Given the description of an element on the screen output the (x, y) to click on. 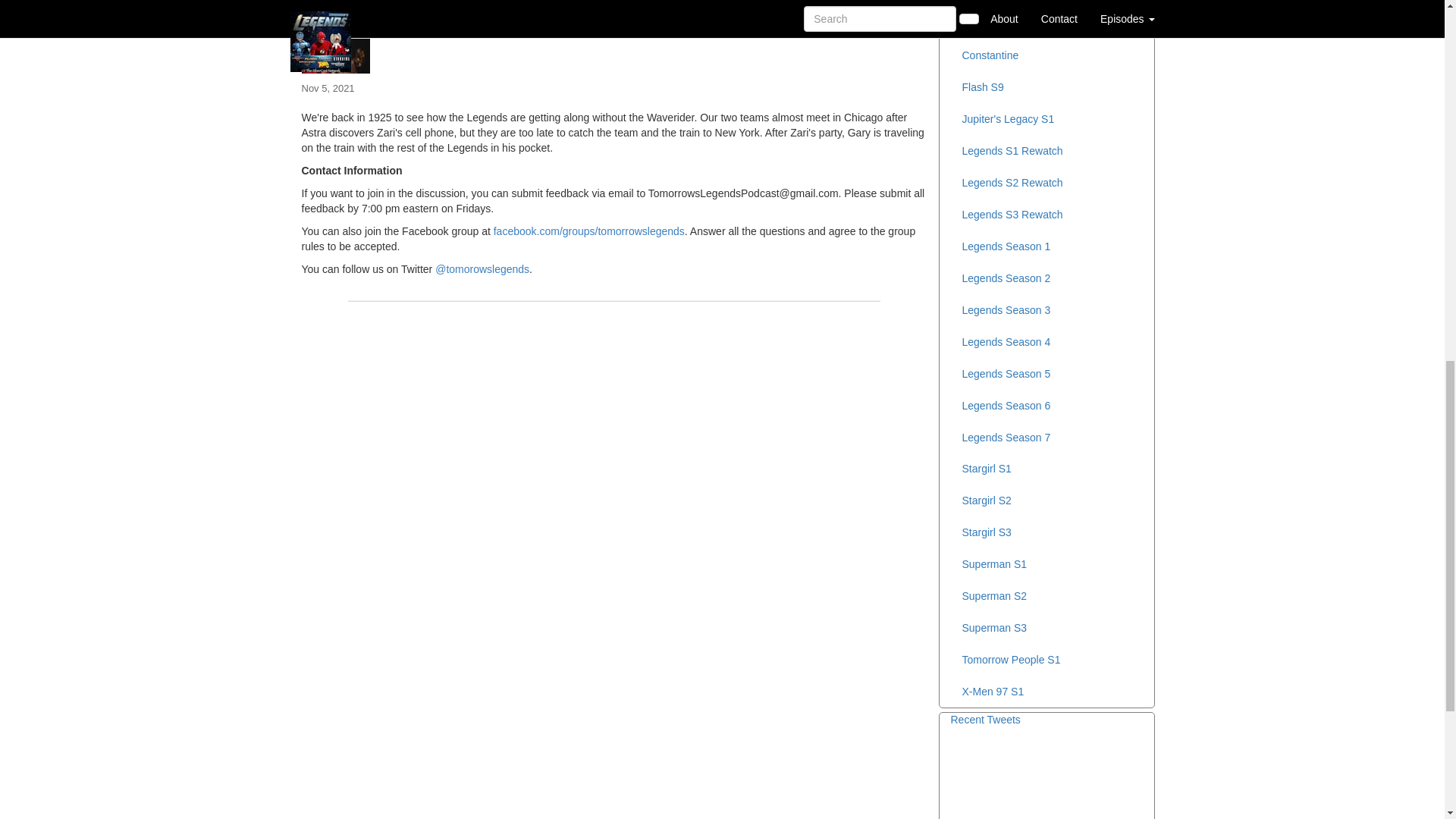
TL188 - Legends - S7E4 - Speakeasy Does It (614, 38)
